Given the description of an element on the screen output the (x, y) to click on. 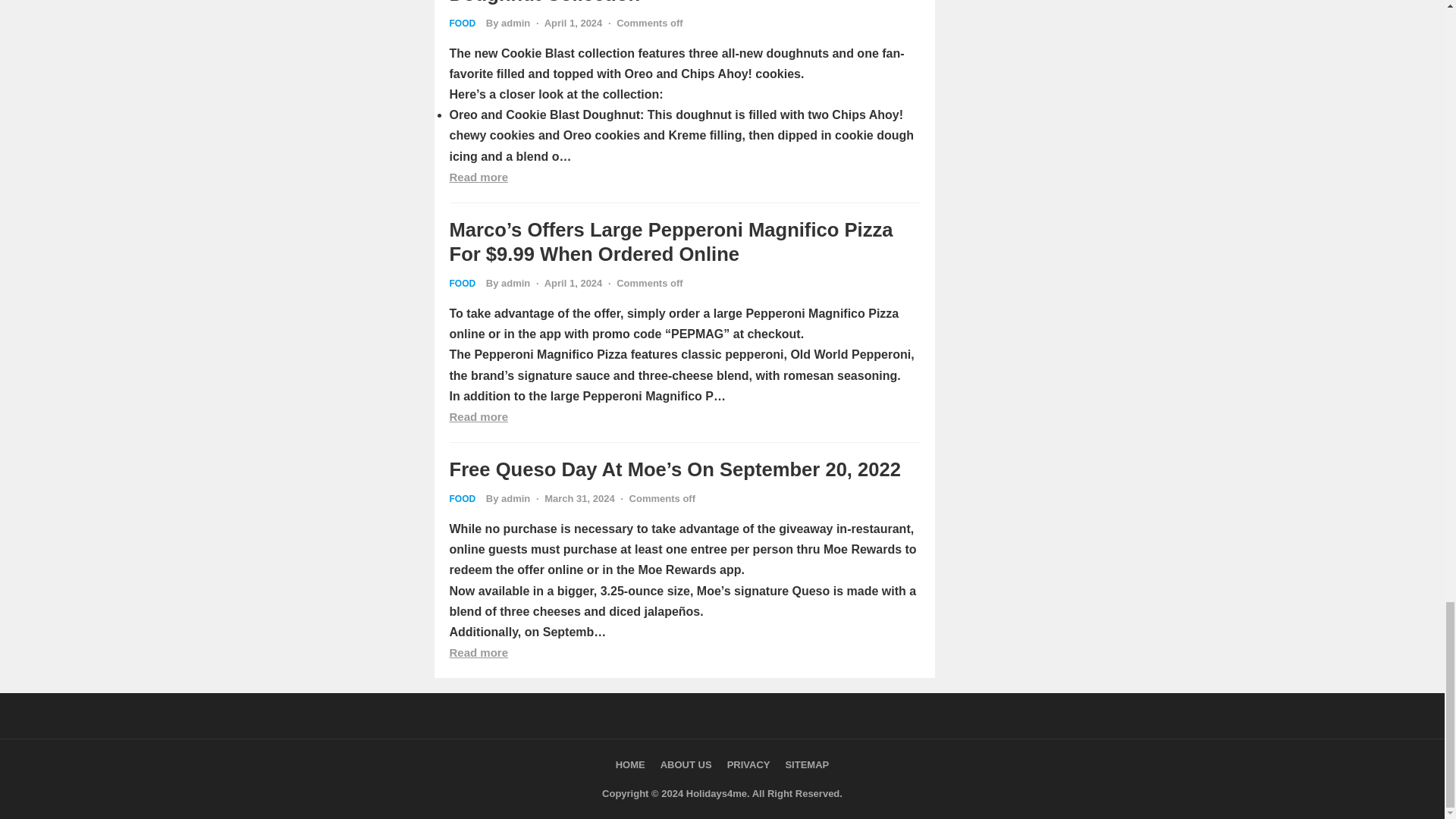
Posts by admin (514, 498)
Posts by admin (514, 22)
Posts by admin (514, 283)
